Given the description of an element on the screen output the (x, y) to click on. 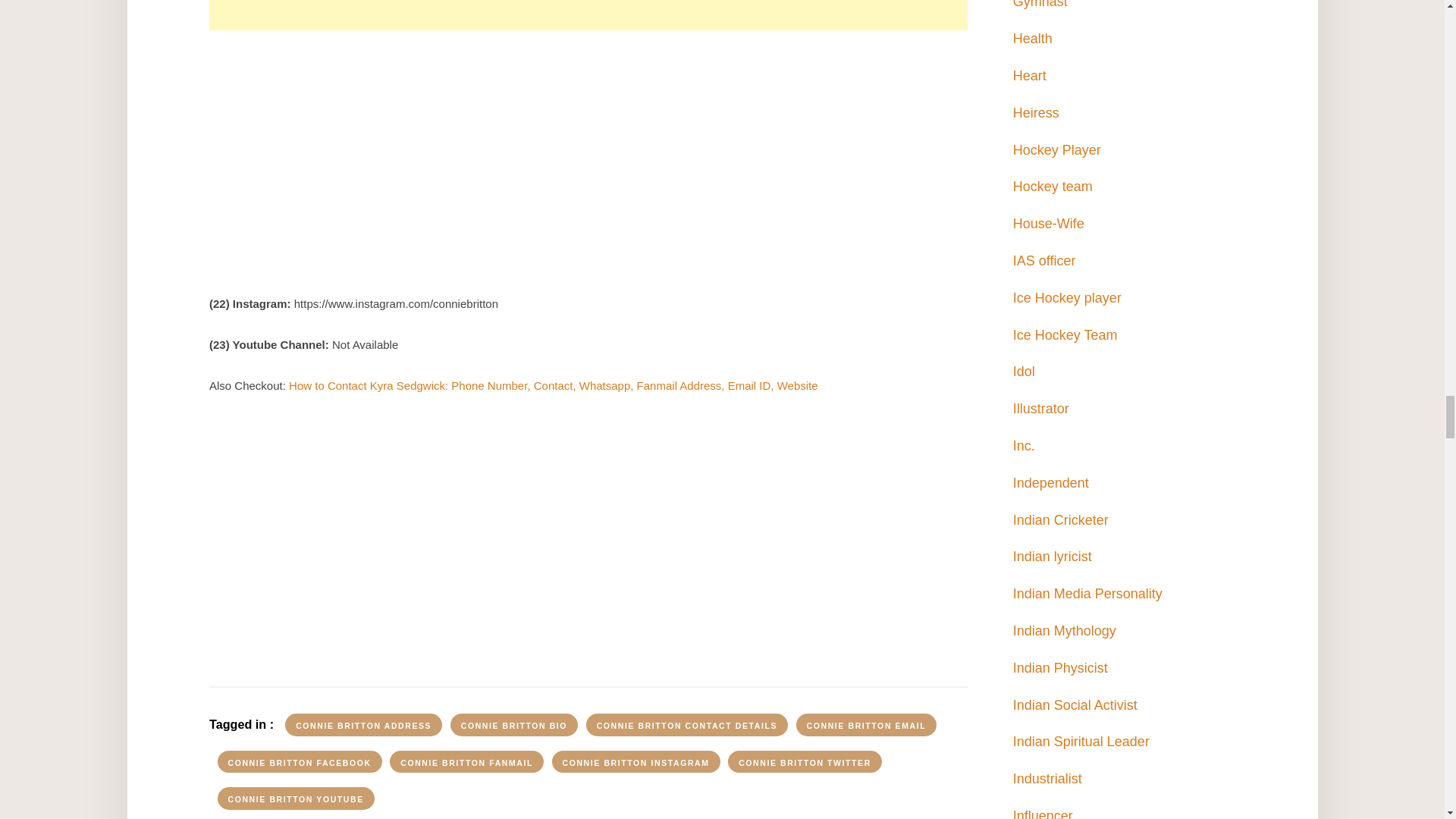
CONNIE BRITTON CONTACT DETAILS (686, 724)
CONNIE BRITTON FANMAIL (466, 762)
CONNIE BRITTON ADDRESS (363, 724)
CONNIE BRITTON INSTAGRAM (635, 762)
CONNIE BRITTON BIO (513, 724)
CONNIE BRITTON FACEBOOK (298, 762)
CONNIE BRITTON EMAIL (866, 724)
YouTube video player (587, 536)
